Given the description of an element on the screen output the (x, y) to click on. 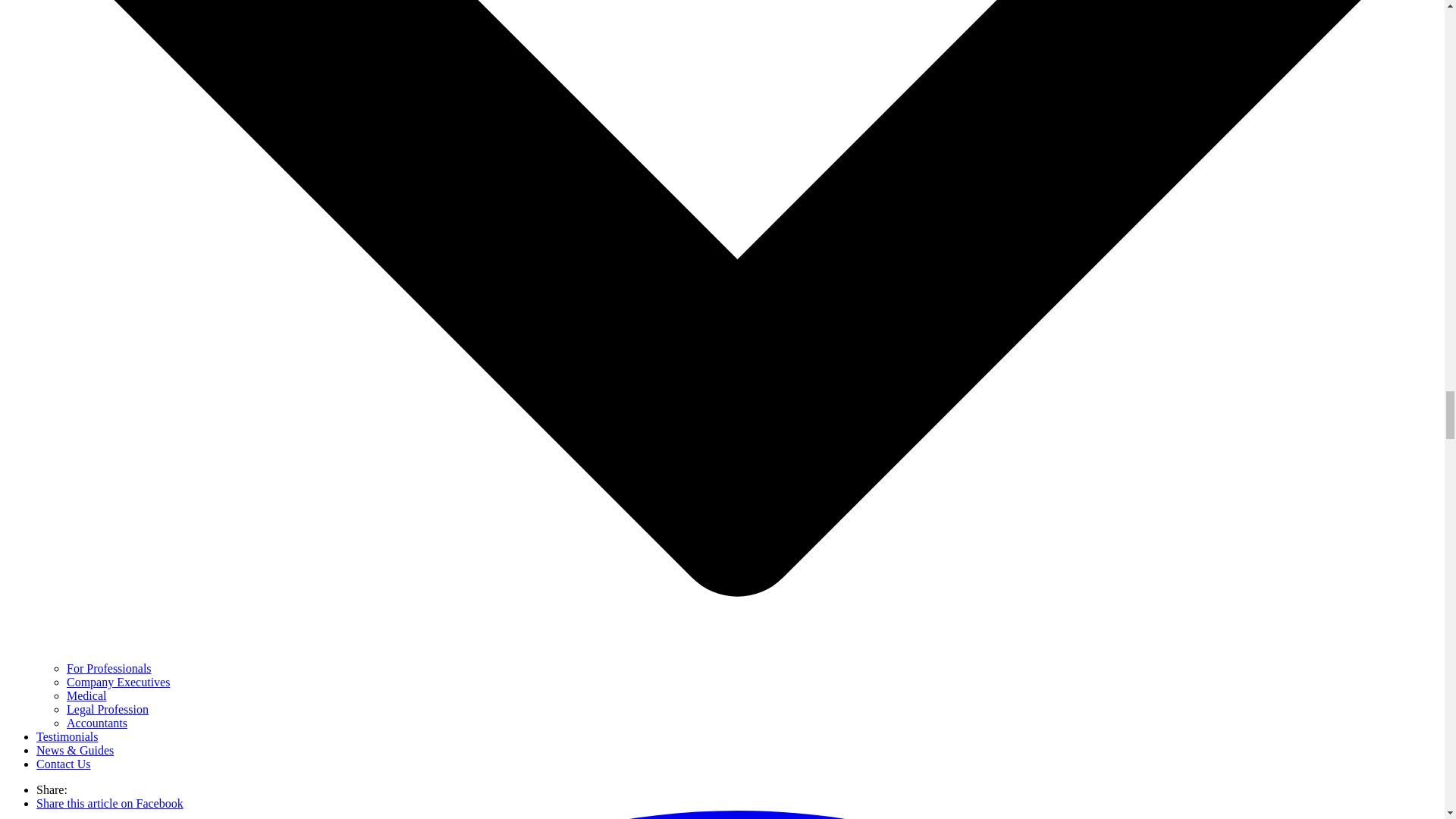
Contact Us (63, 763)
Medical (86, 695)
Accountants (97, 722)
Company Executives (118, 681)
Legal Profession (107, 708)
Testimonials (67, 736)
For Professionals (108, 667)
